Given the description of an element on the screen output the (x, y) to click on. 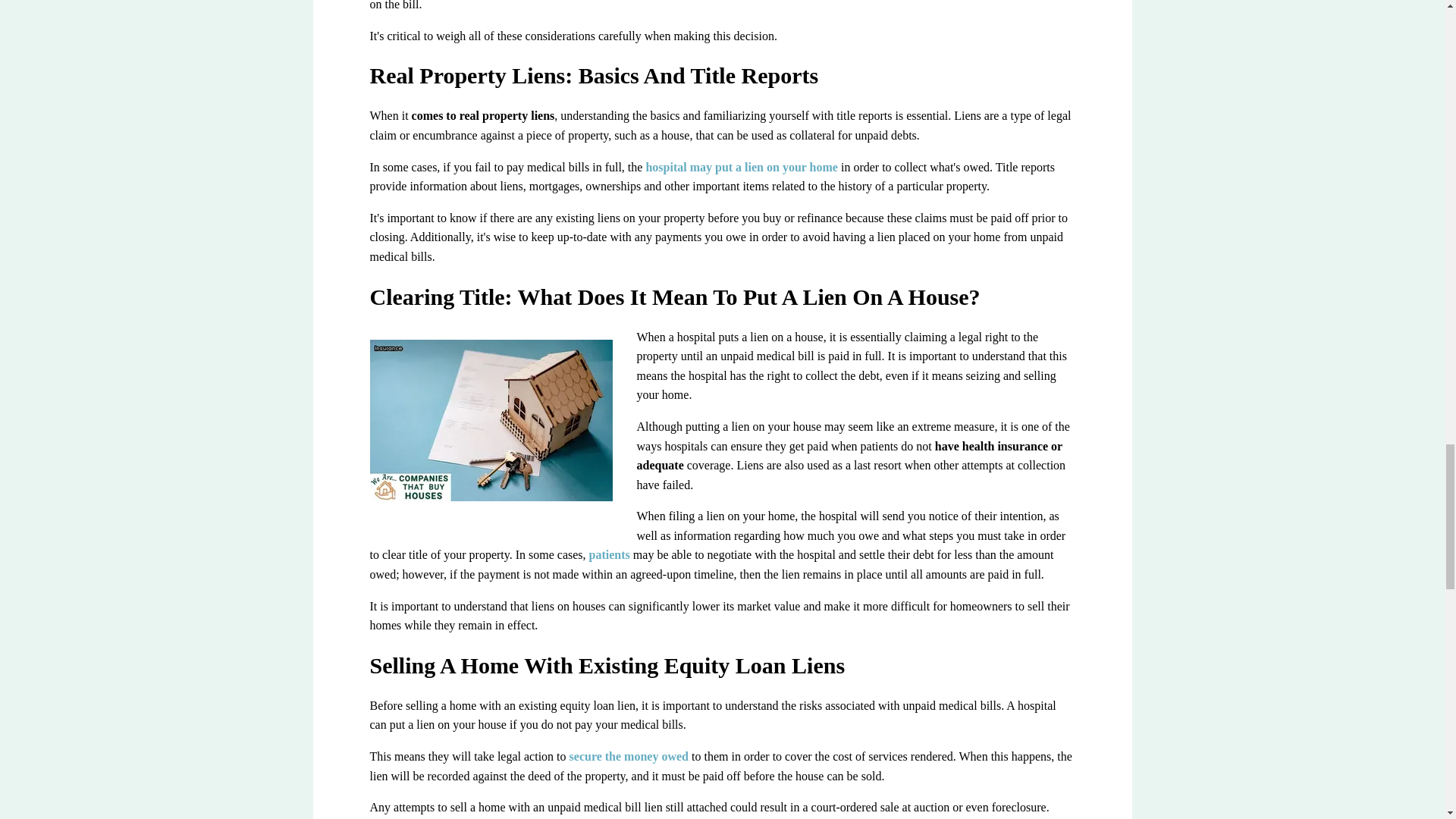
hospital may put a lien on your home (741, 166)
patients (608, 554)
secure the money owed (628, 756)
